Given the description of an element on the screen output the (x, y) to click on. 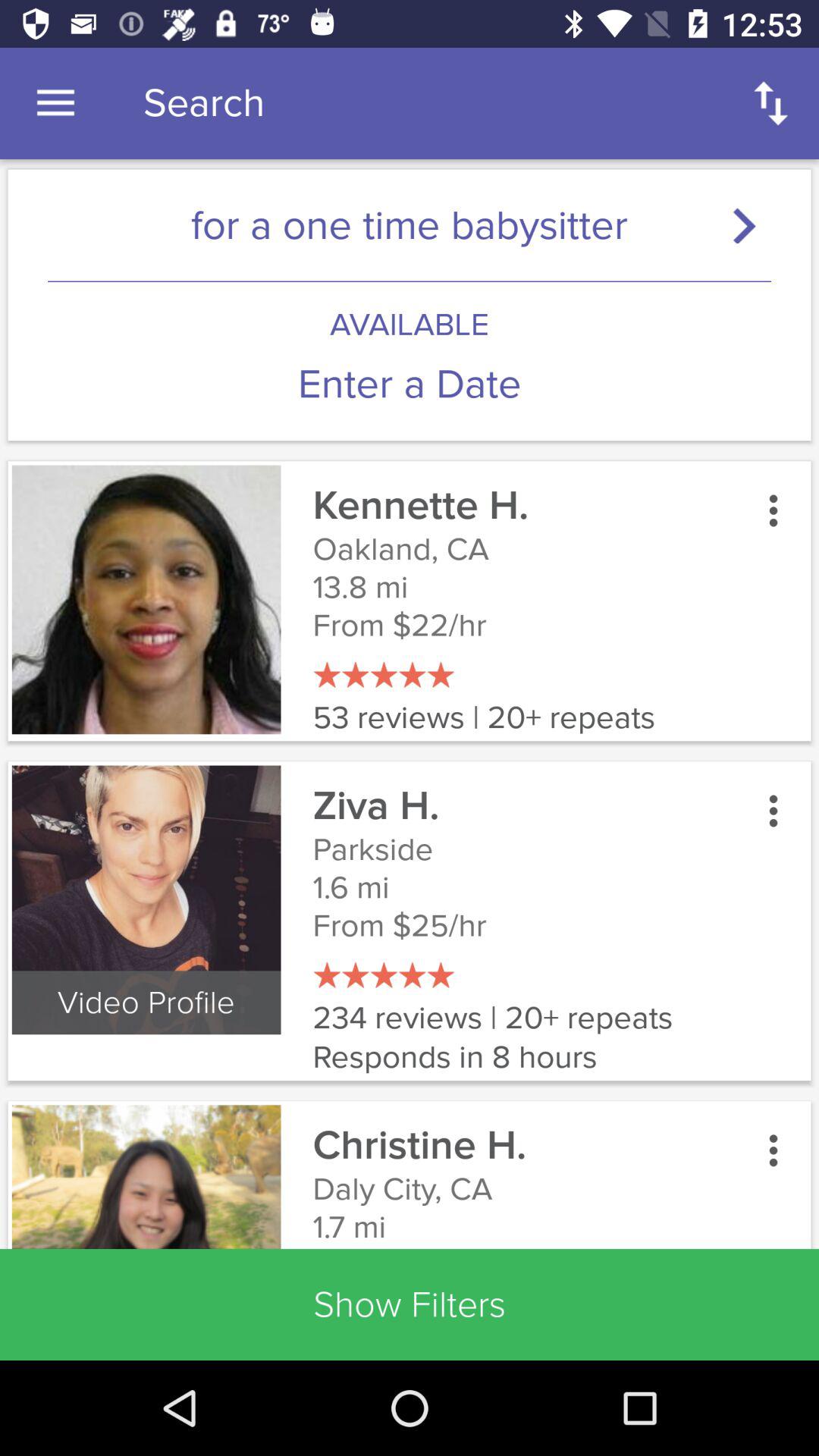
turn off the show filters item (409, 1304)
